Given the description of an element on the screen output the (x, y) to click on. 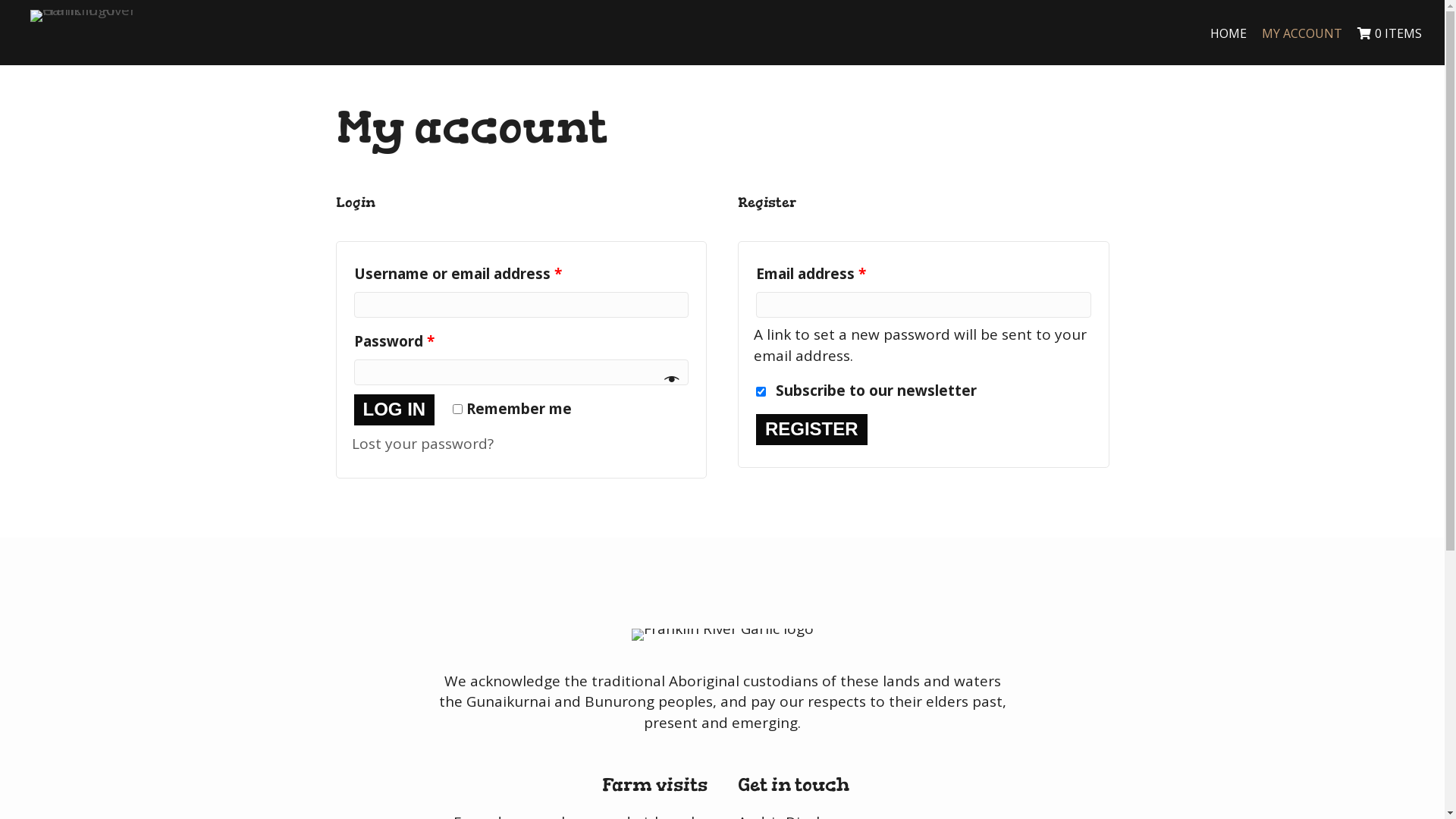
REGISTER Element type: text (811, 429)
Franklin River Garlic logo 470px Element type: hover (721, 634)
Franklin River Garlic logo 207px Element type: hover (87, 15)
Lost your password? Element type: text (422, 443)
HOME Element type: text (1228, 33)
MY ACCOUNT Element type: text (1301, 33)
0 ITEMS Element type: text (1389, 33)
LOG IN Element type: text (393, 409)
